Given the description of an element on the screen output the (x, y) to click on. 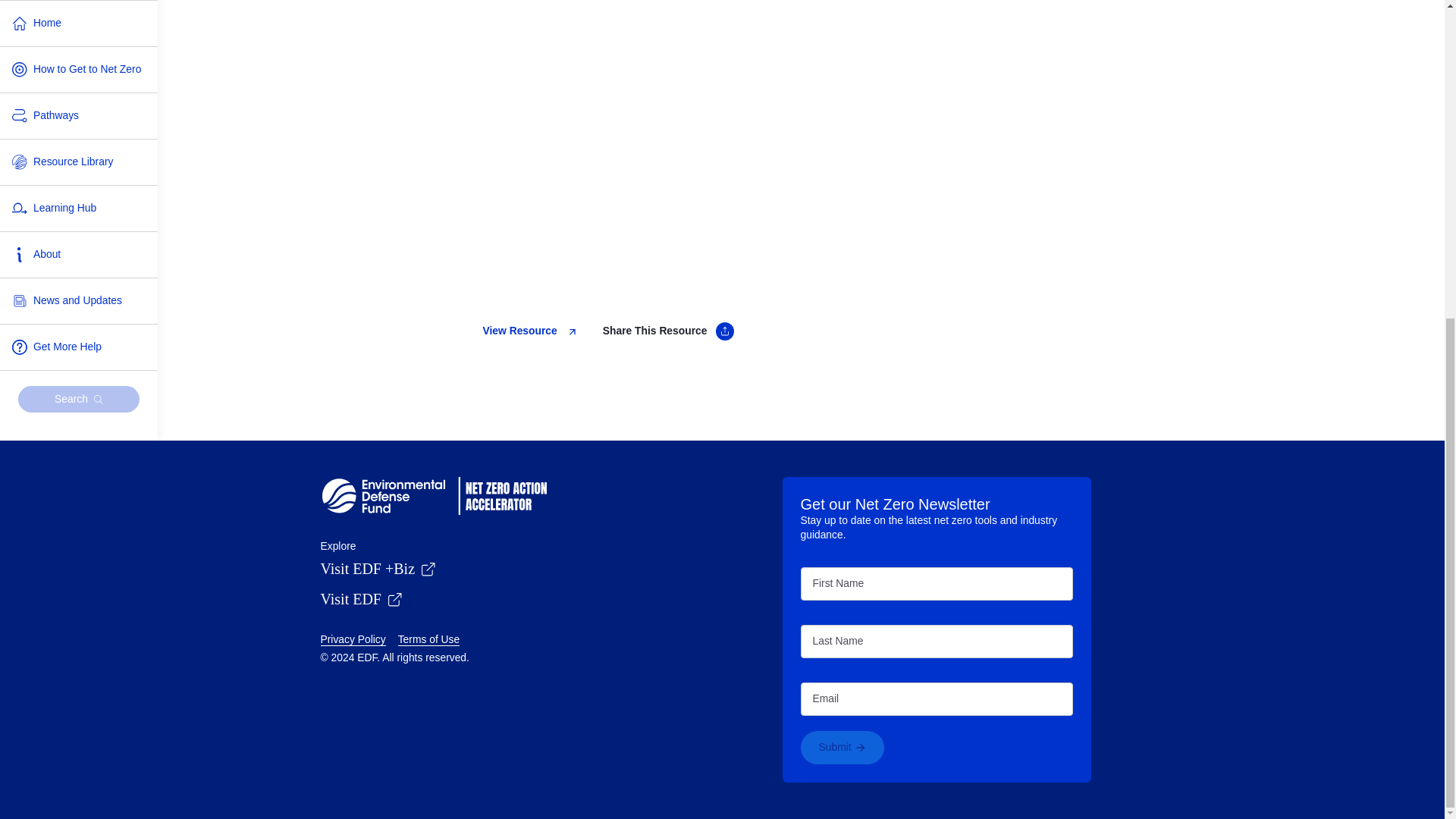
Visit EDF (360, 599)
Share This Resource (668, 331)
View Resource (529, 331)
